Given the description of an element on the screen output the (x, y) to click on. 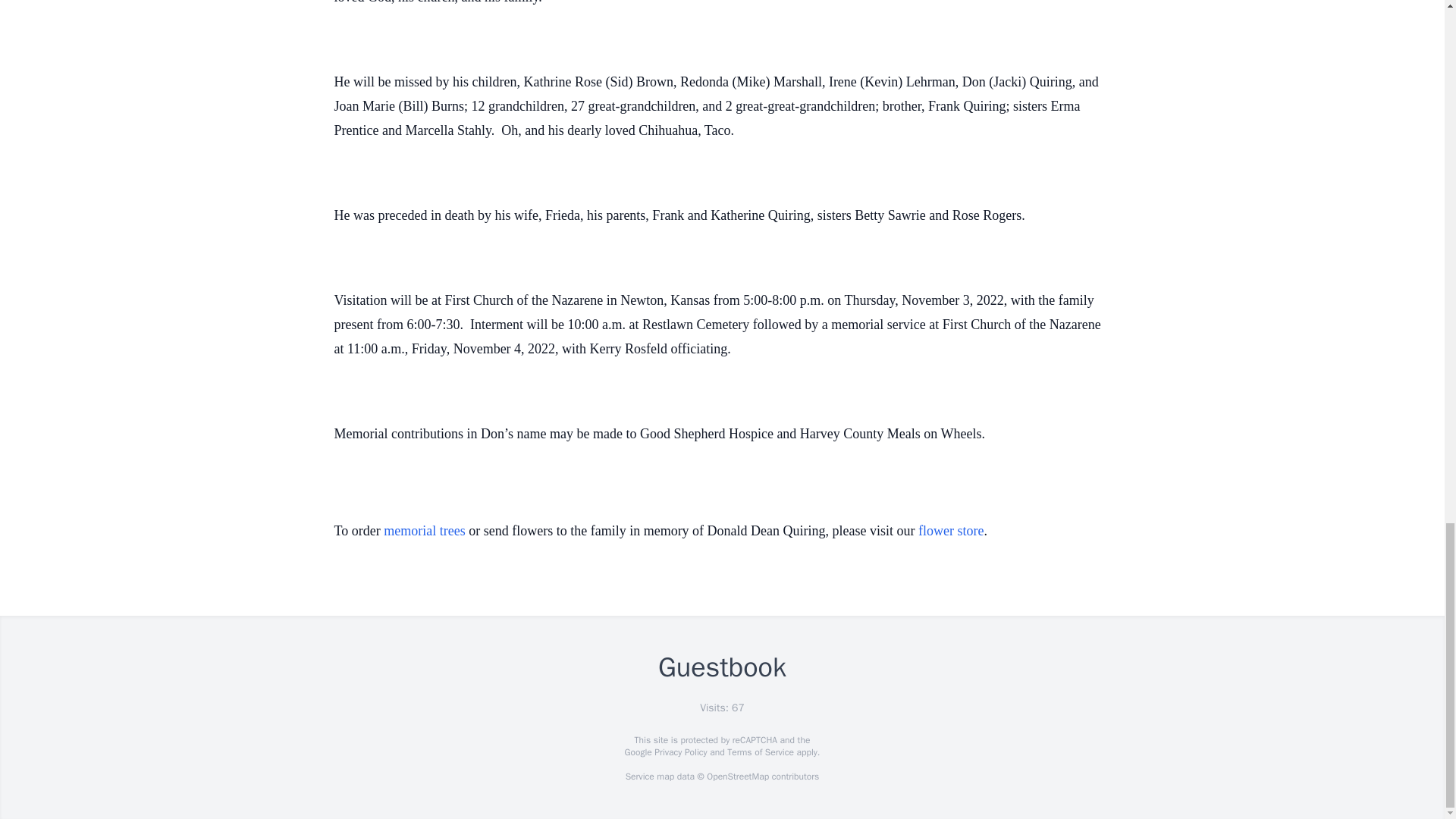
Privacy Policy (679, 752)
Terms of Service (759, 752)
flower store (951, 530)
OpenStreetMap (737, 776)
memorial trees (424, 530)
